Given the description of an element on the screen output the (x, y) to click on. 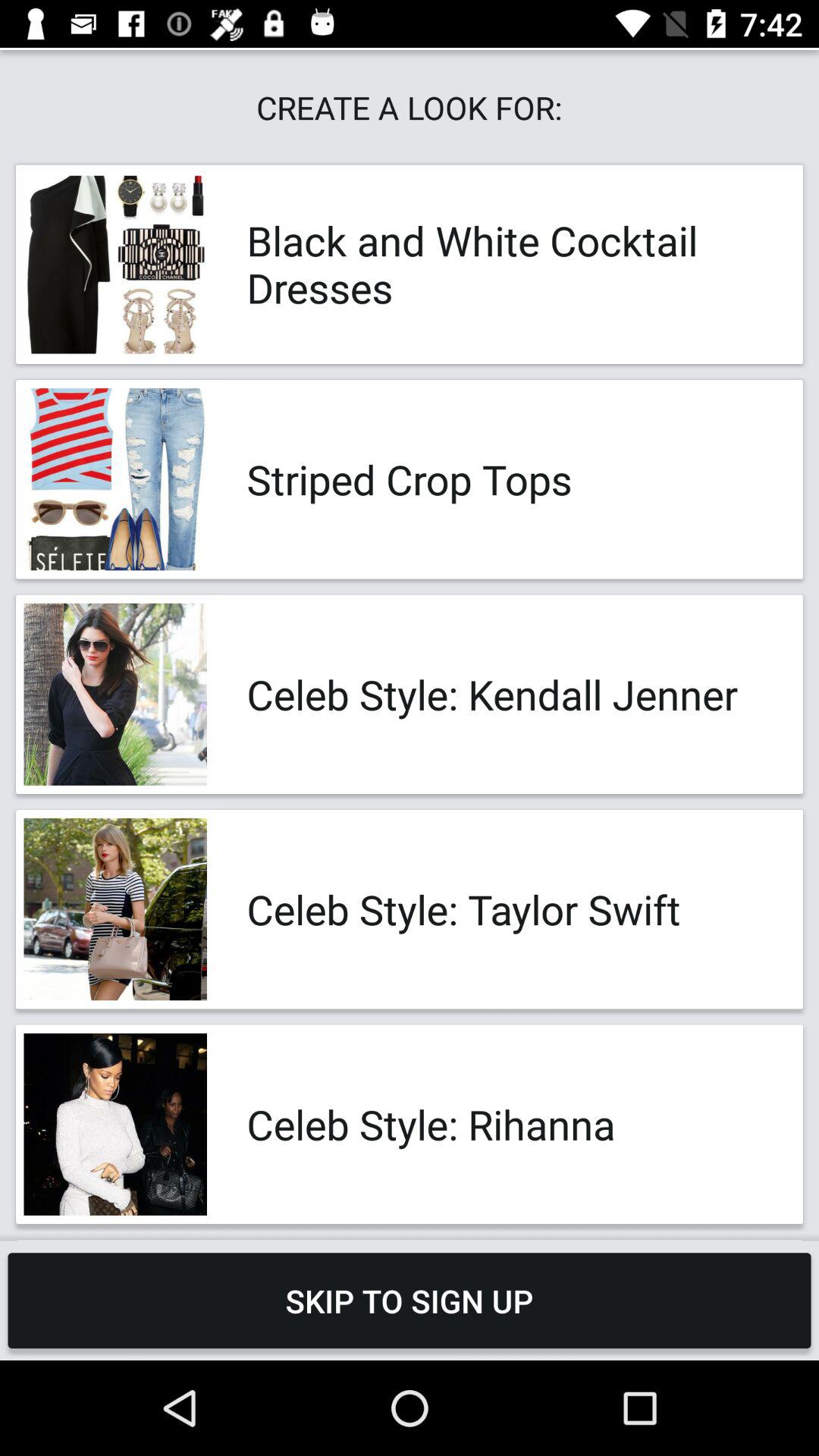
swipe until the skip to sign item (409, 1300)
